Given the description of an element on the screen output the (x, y) to click on. 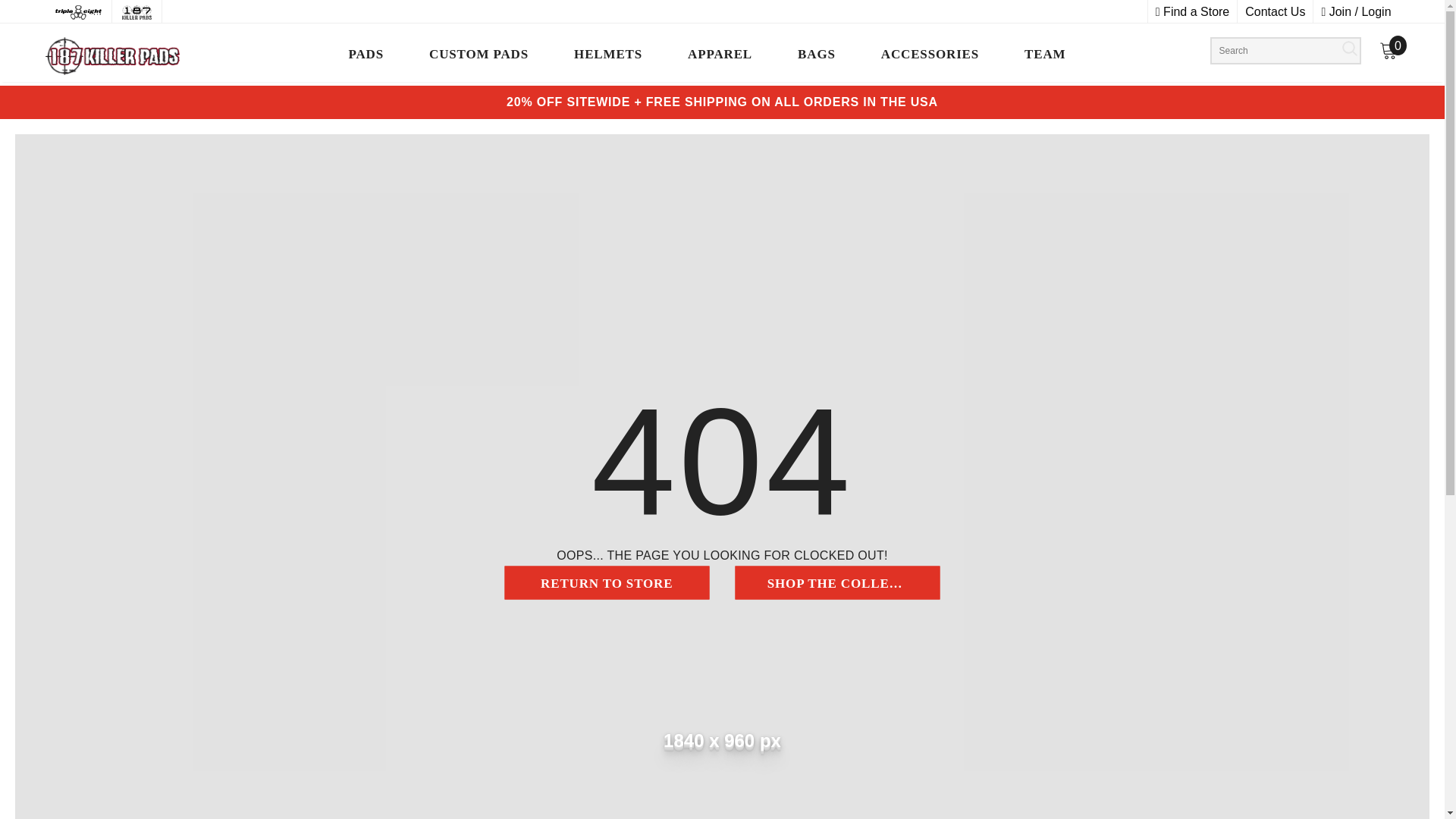
ACCESSORIES (930, 57)
PADS (365, 57)
CUSTOM PADS (478, 57)
APPAREL (719, 57)
Logo (134, 55)
Contact Us (1274, 11)
BAGS (816, 57)
Find a Store (1192, 11)
TEAM (1044, 57)
HELMETS (608, 57)
